Given the description of an element on the screen output the (x, y) to click on. 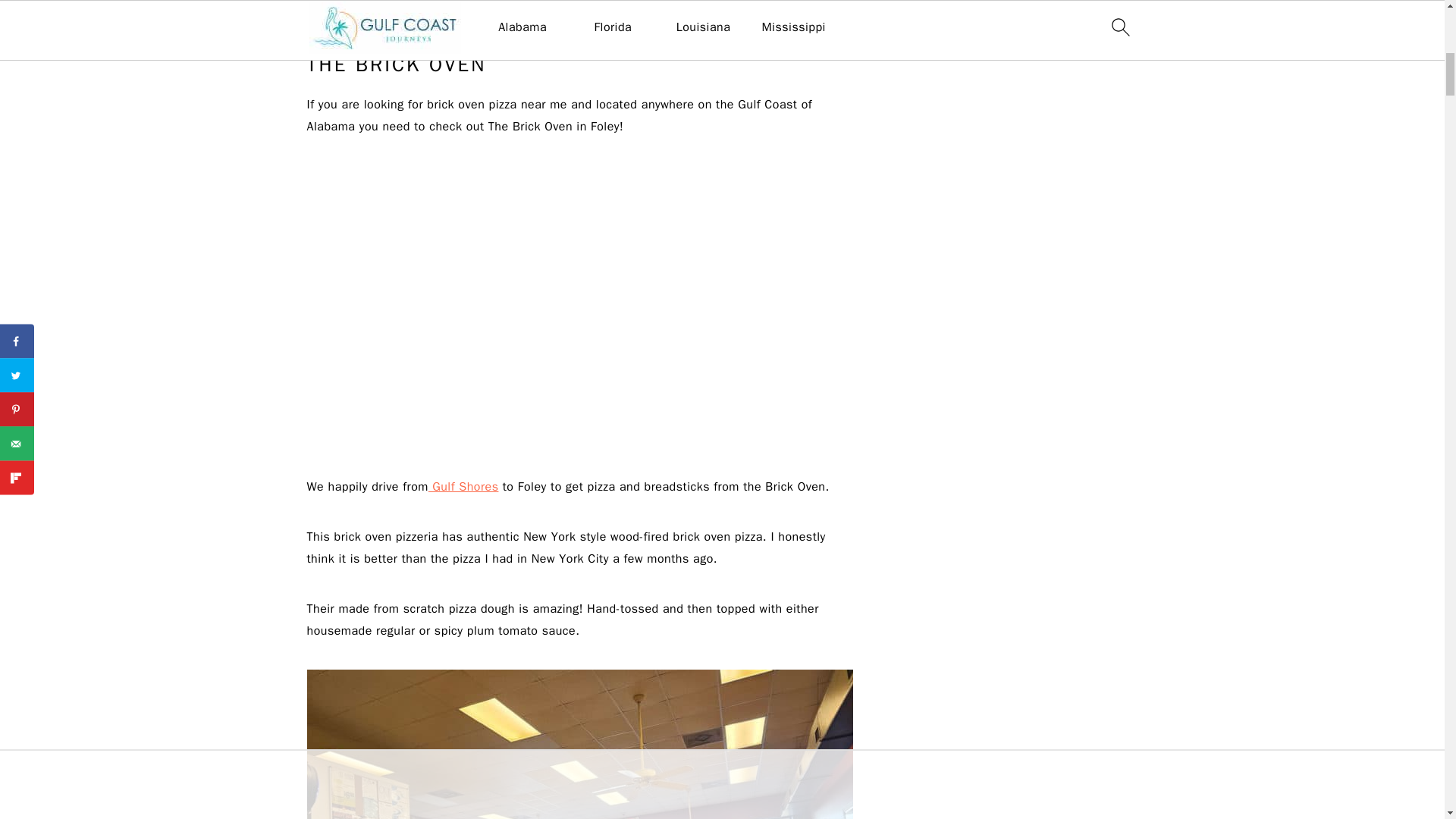
Gulf Shores (463, 486)
